Given the description of an element on the screen output the (x, y) to click on. 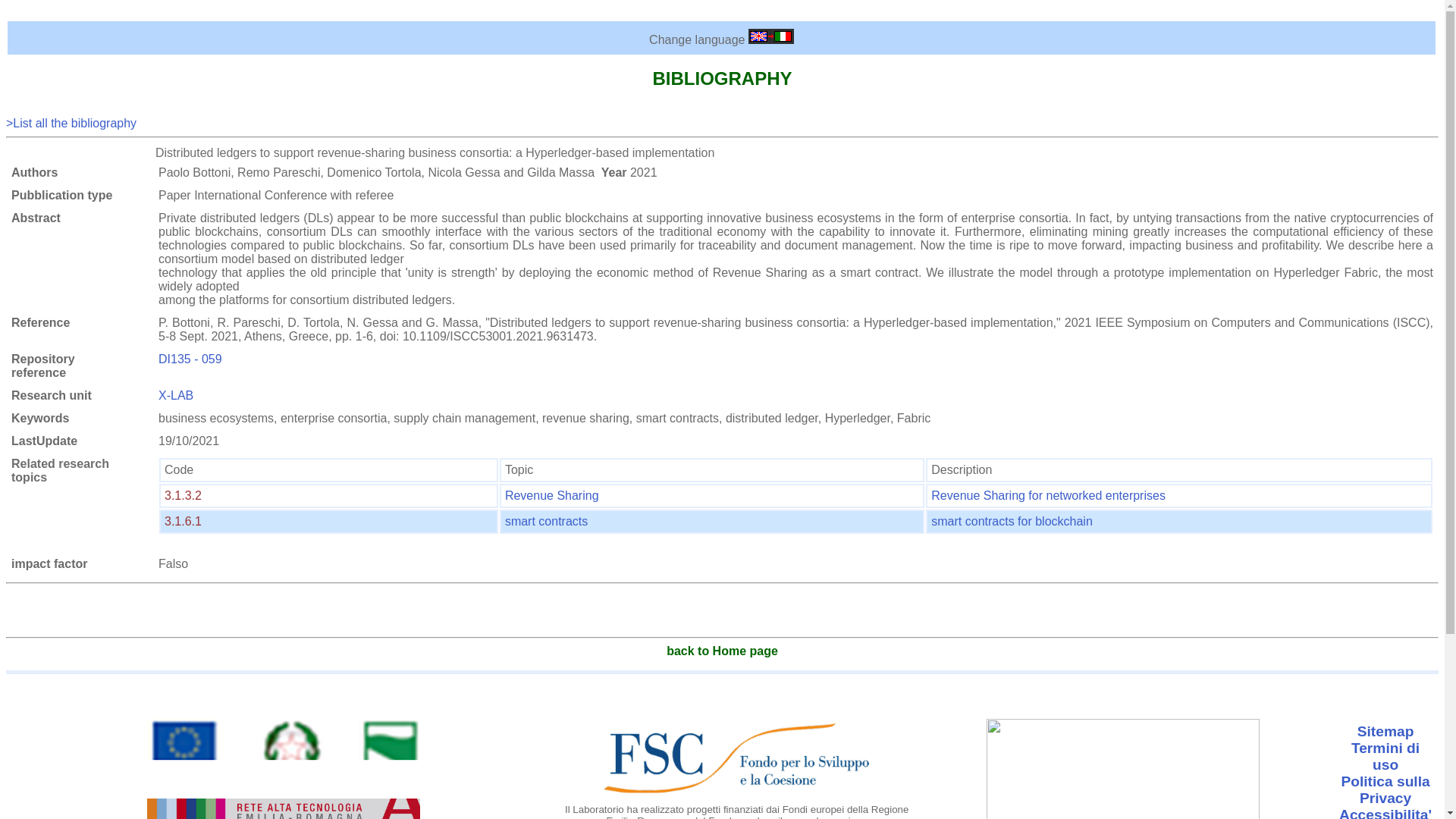
Bibliografia (70, 123)
Accessibilita' (1385, 814)
Click to ZOOM this row (183, 495)
Termini di uso (1385, 757)
Sitemap (1384, 731)
Click to ZOOM this row (1012, 521)
Revenue Sharing (551, 495)
Link to 'Accessibilita''  (1385, 814)
DI135 - 059 (190, 358)
smart contracts for blockchain (1012, 521)
